Given the description of an element on the screen output the (x, y) to click on. 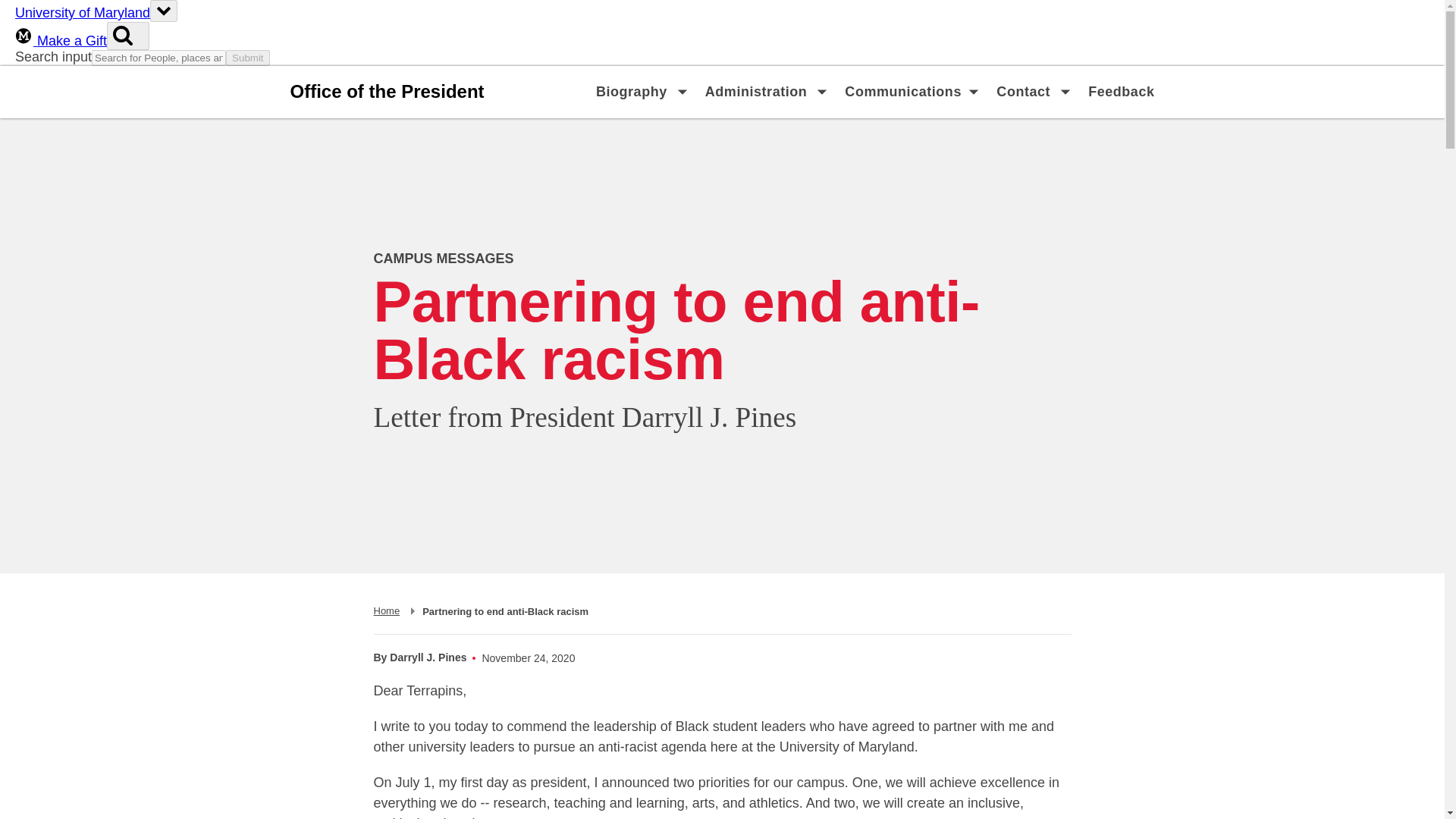
Darryll J. Pines (427, 657)
Contact (1023, 92)
Administration (755, 92)
Feedback (1120, 92)
Communications (901, 92)
Biography (385, 611)
CAMPUS MESSAGES (631, 92)
Office of the President (442, 258)
